Given the description of an element on the screen output the (x, y) to click on. 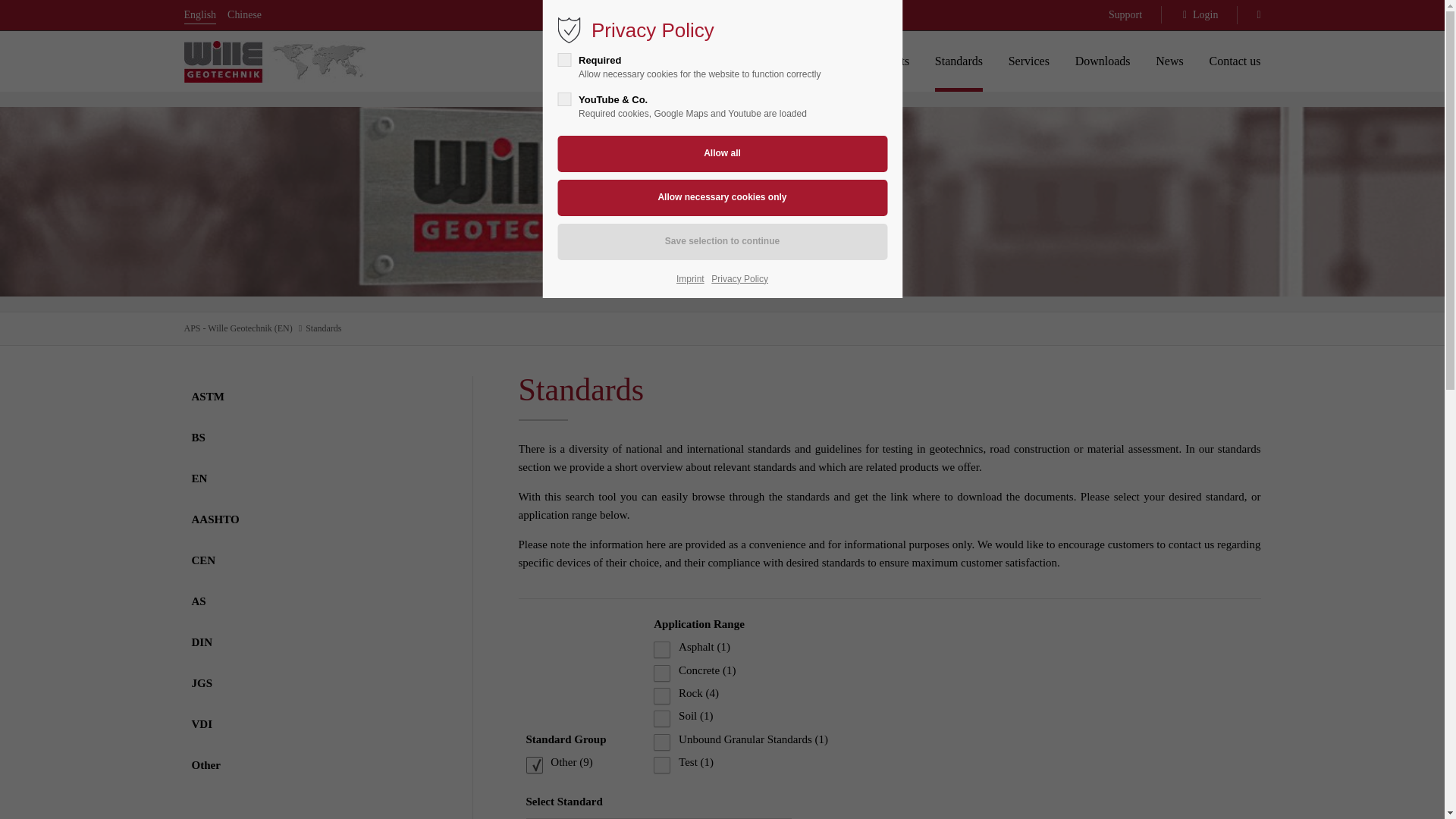
Save selection to continue (721, 241)
Login (828, 427)
Chinese (244, 14)
213 (661, 764)
Support (1131, 14)
204 (661, 742)
Allow all (721, 153)
English (199, 14)
219 (534, 764)
Allow necessary cookies only (721, 197)
